Given the description of an element on the screen output the (x, y) to click on. 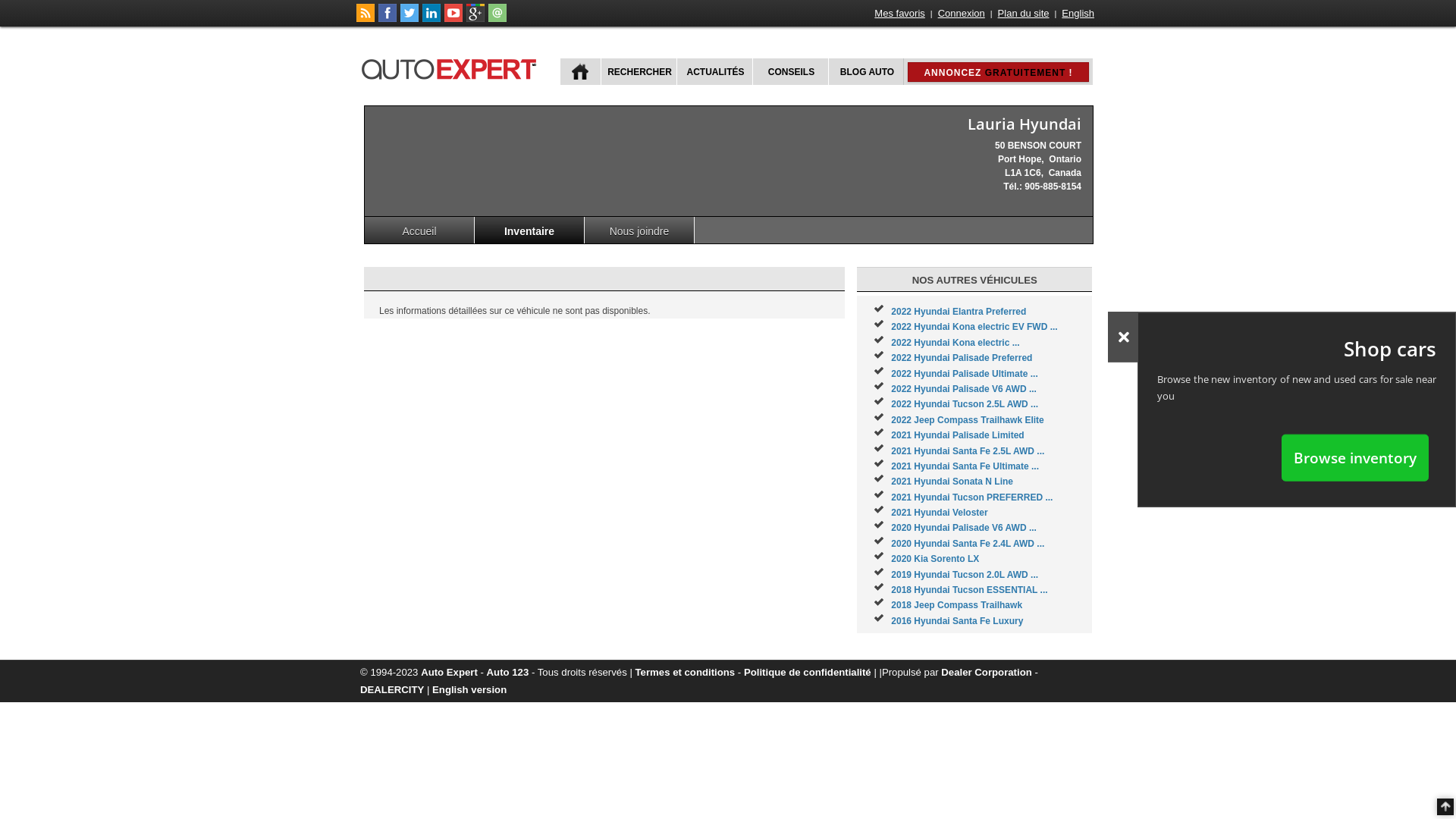
2020 Kia Sorento LX Element type: text (935, 558)
DEALERCITY Element type: text (391, 689)
CONSEILS Element type: text (789, 71)
Suivez autoExpert.ca sur Youtube Element type: hover (453, 18)
RECHERCHER Element type: text (637, 71)
2021 Hyundai Santa Fe Ultimate ... Element type: text (964, 466)
Connexion Element type: text (961, 13)
2022 Hyundai Palisade Ultimate ... Element type: text (964, 373)
2021 Hyundai Palisade Limited Element type: text (957, 434)
Joindre autoExpert.ca Element type: hover (497, 18)
Auto 123 Element type: text (507, 671)
Inventaire Element type: text (529, 229)
Suivez autoExpert.ca sur Google Plus Element type: hover (475, 18)
2022 Hyundai Kona electric ... Element type: text (955, 342)
2022 Jeep Compass Trailhawk Elite Element type: text (967, 419)
Browse inventory Element type: text (1354, 457)
2021 Hyundai Veloster Element type: text (939, 512)
Accueil Element type: text (419, 229)
ANNONCEZ GRATUITEMENT ! Element type: text (997, 71)
2022 Hyundai Elantra Preferred Element type: text (958, 311)
2021 Hyundai Tucson PREFERRED ... Element type: text (971, 497)
2021 Hyundai Santa Fe 2.5L AWD ... Element type: text (967, 450)
2020 Hyundai Santa Fe 2.4L AWD ... Element type: text (967, 543)
2018 Hyundai Tucson ESSENTIAL ... Element type: text (969, 589)
2020 Hyundai Palisade V6 AWD ... Element type: text (963, 527)
Mes favoris Element type: text (898, 13)
2022 Hyundai Kona electric EV FWD ... Element type: text (974, 326)
Suivez Publications Le Guide Inc. sur LinkedIn Element type: hover (431, 18)
Suivez autoExpert.ca sur Twitter Element type: hover (409, 18)
Auto Expert Element type: text (448, 671)
English version Element type: text (469, 689)
2018 Jeep Compass Trailhawk Element type: text (956, 604)
2022 Hyundai Palisade Preferred Element type: text (961, 357)
2016 Hyundai Santa Fe Luxury Element type: text (956, 620)
English Element type: text (1077, 13)
Termes et conditions Element type: text (685, 671)
Suivez autoExpert.ca sur Facebook Element type: hover (387, 18)
Dealer Corporation Element type: text (986, 671)
Plan du site Element type: text (1023, 13)
Nous joindre Element type: text (639, 229)
BLOG AUTO Element type: text (865, 71)
ACCUEIL Element type: text (580, 71)
autoExpert.ca Element type: text (451, 66)
2022 Hyundai Tucson 2.5L AWD ... Element type: text (964, 403)
2021 Hyundai Sonata N Line Element type: text (952, 481)
2019 Hyundai Tucson 2.0L AWD ... Element type: text (964, 574)
2022 Hyundai Palisade V6 AWD ... Element type: text (963, 388)
